Given the description of an element on the screen output the (x, y) to click on. 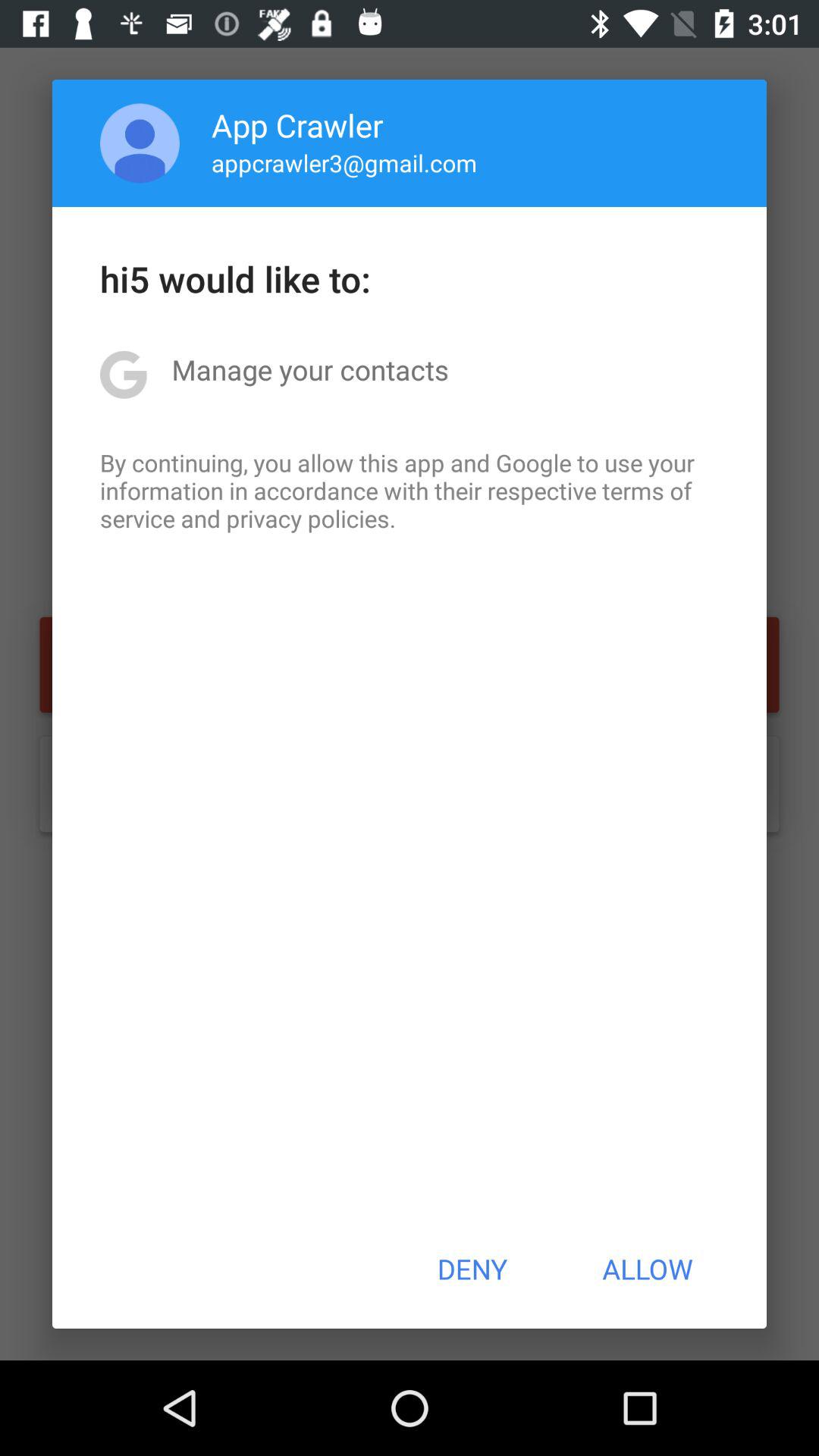
flip to appcrawler3@gmail.com icon (344, 162)
